Given the description of an element on the screen output the (x, y) to click on. 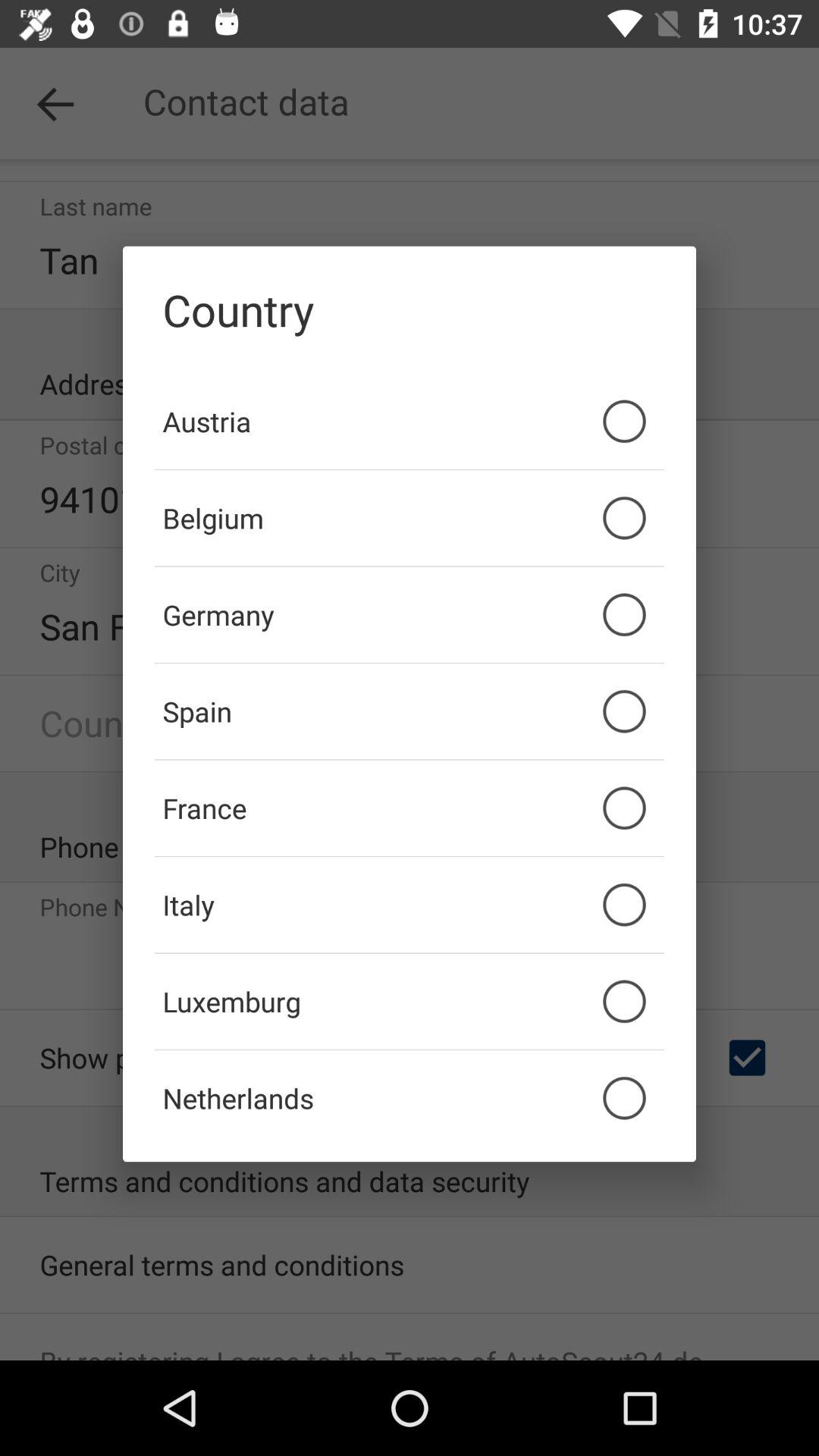
tap italy icon (409, 904)
